Given the description of an element on the screen output the (x, y) to click on. 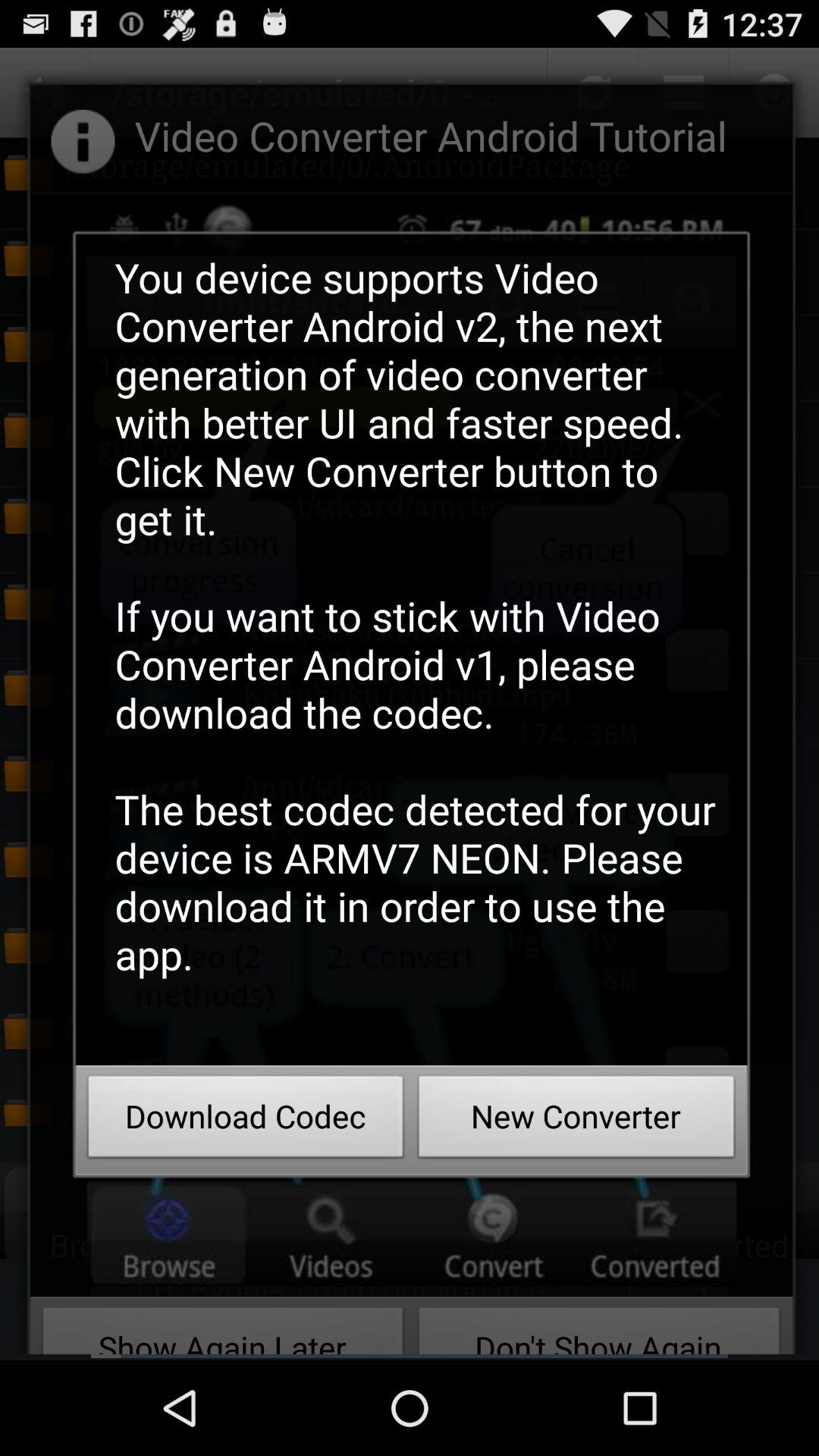
press download codec at the bottom left corner (245, 1120)
